Given the description of an element on the screen output the (x, y) to click on. 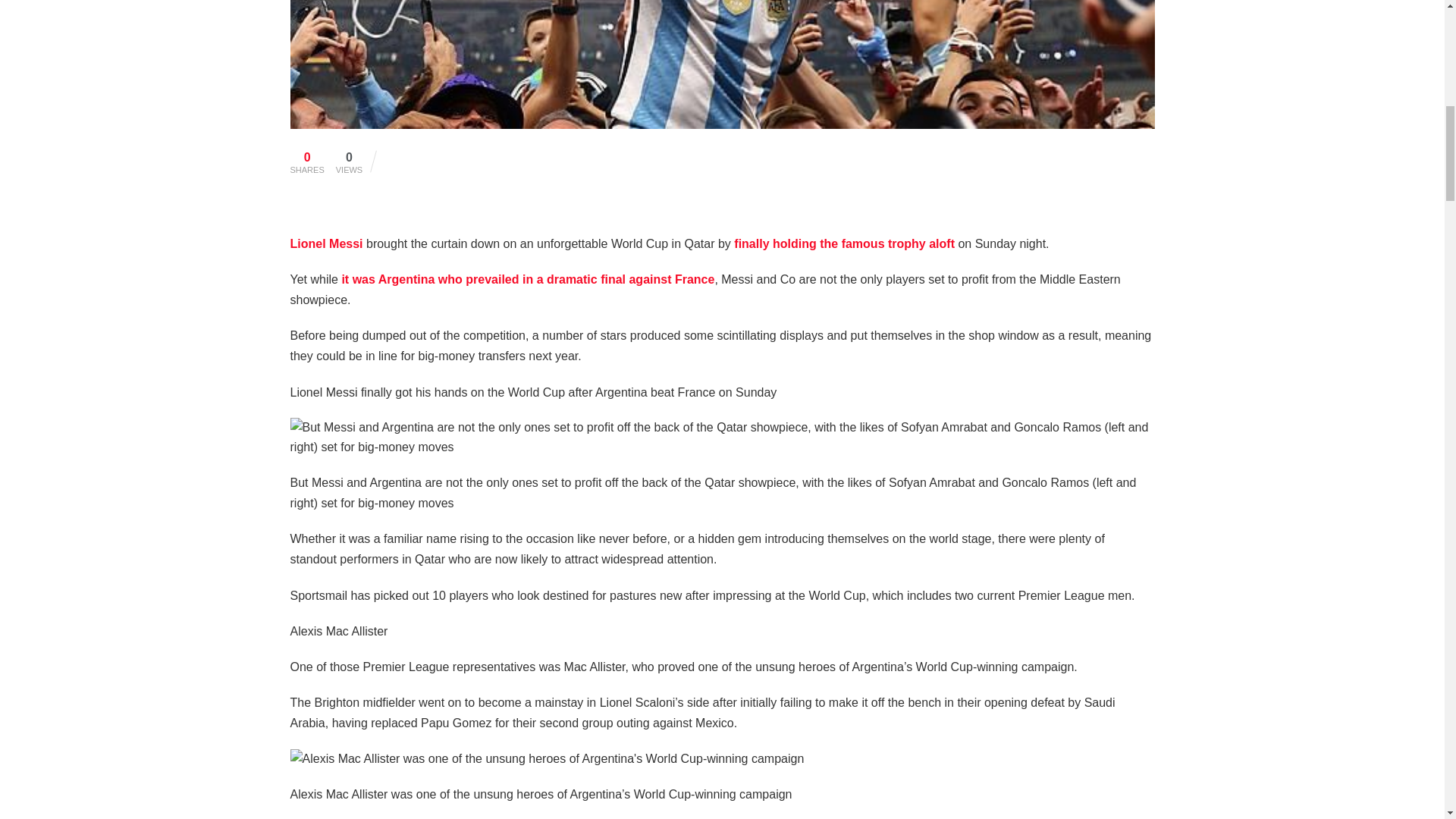
finally holding the famous trophy aloft (844, 243)
Lionel Messi (325, 243)
